Given the description of an element on the screen output the (x, y) to click on. 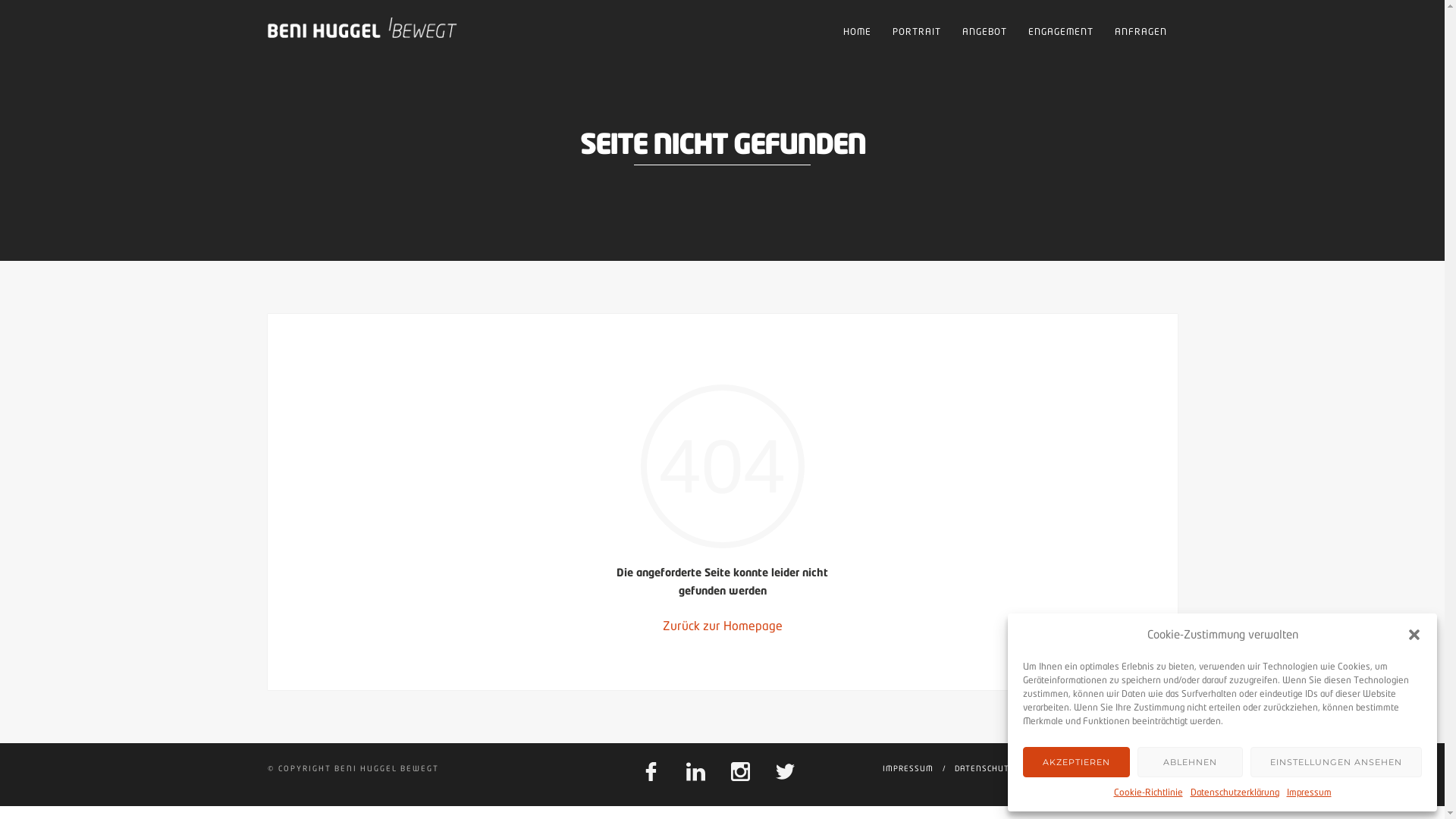
ANFRAGEN Element type: text (1140, 31)
ENGAGEMENT Element type: text (1060, 31)
EINSTELLUNGEN ANSEHEN Element type: text (1335, 761)
ABLEHNEN Element type: text (1189, 761)
PORTRAIT Element type: text (915, 31)
COOKIE-EINSTELLUNGEN Element type: text (1135, 767)
HOME Element type: text (856, 31)
AKZEPTIEREN Element type: text (1075, 761)
ANGEBOT Element type: text (983, 31)
Cookie-Richtlinie Element type: text (1147, 792)
IMPRESSUM Element type: text (907, 767)
Impressum Element type: text (1308, 792)
